Given the description of an element on the screen output the (x, y) to click on. 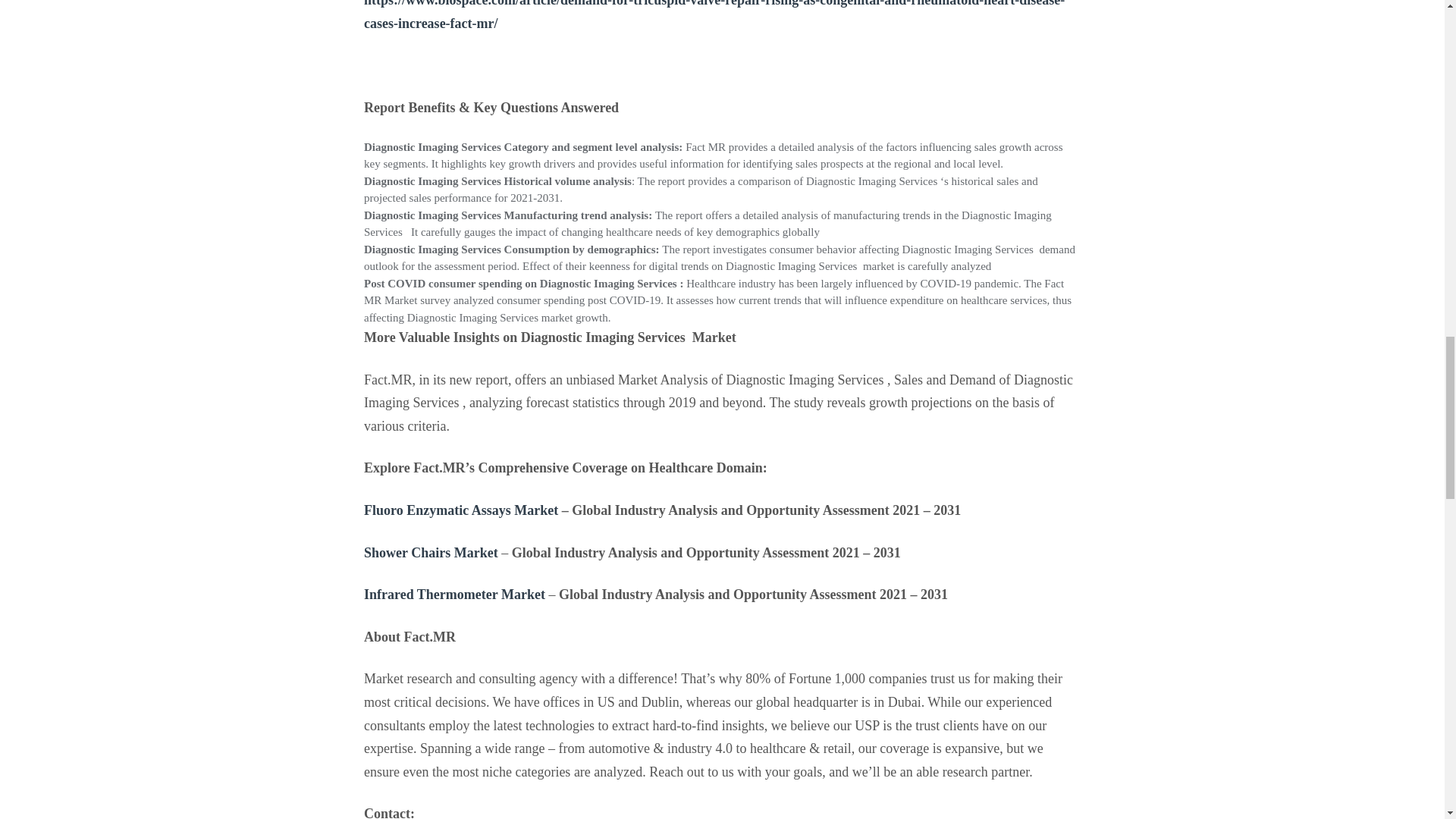
Infrared Thermometer Market (454, 594)
Fluoro Enzymatic Assays Market (460, 509)
Shower Chairs Market (430, 552)
